Given the description of an element on the screen output the (x, y) to click on. 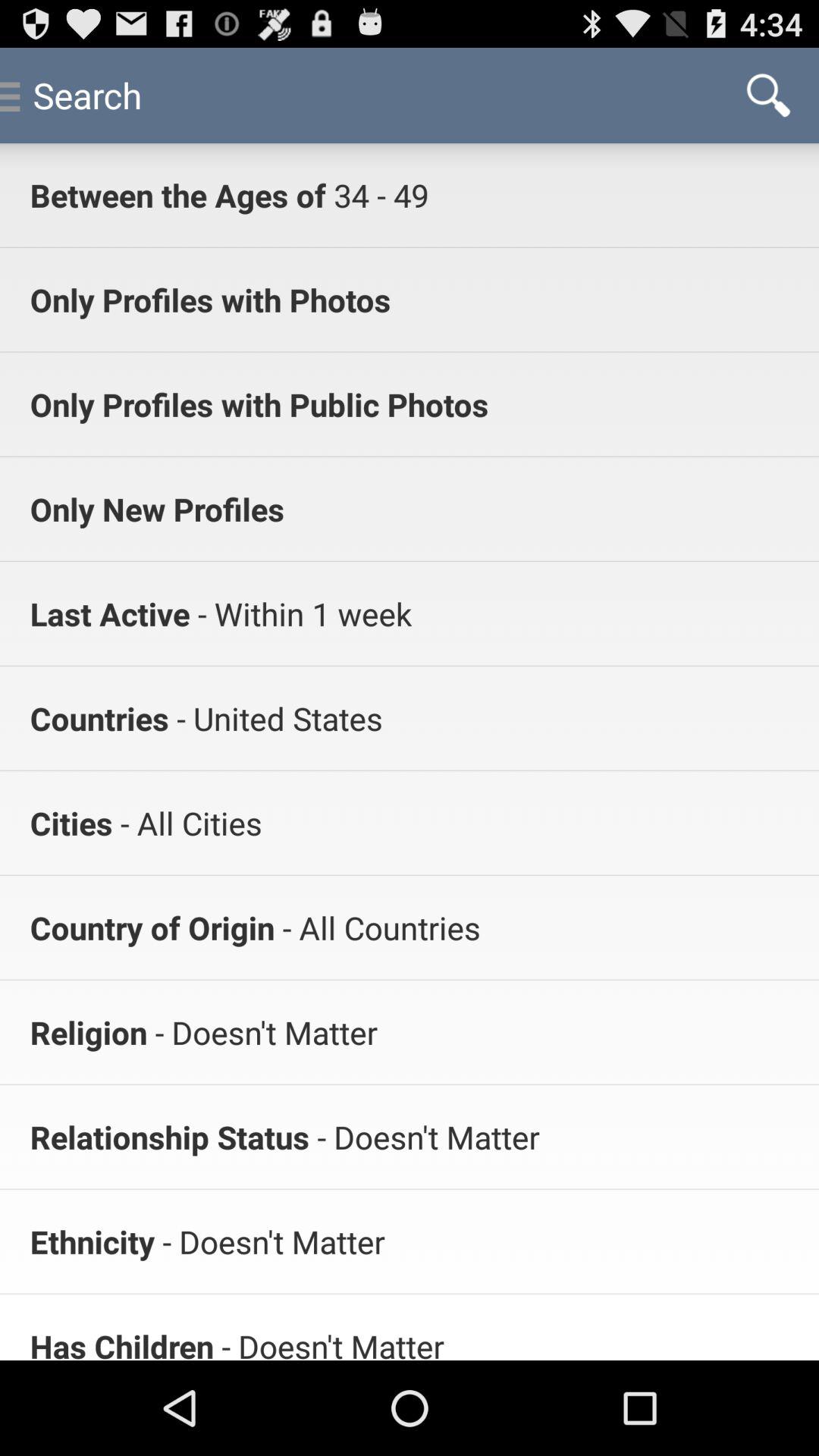
launch app next to the country of origin item (377, 927)
